Given the description of an element on the screen output the (x, y) to click on. 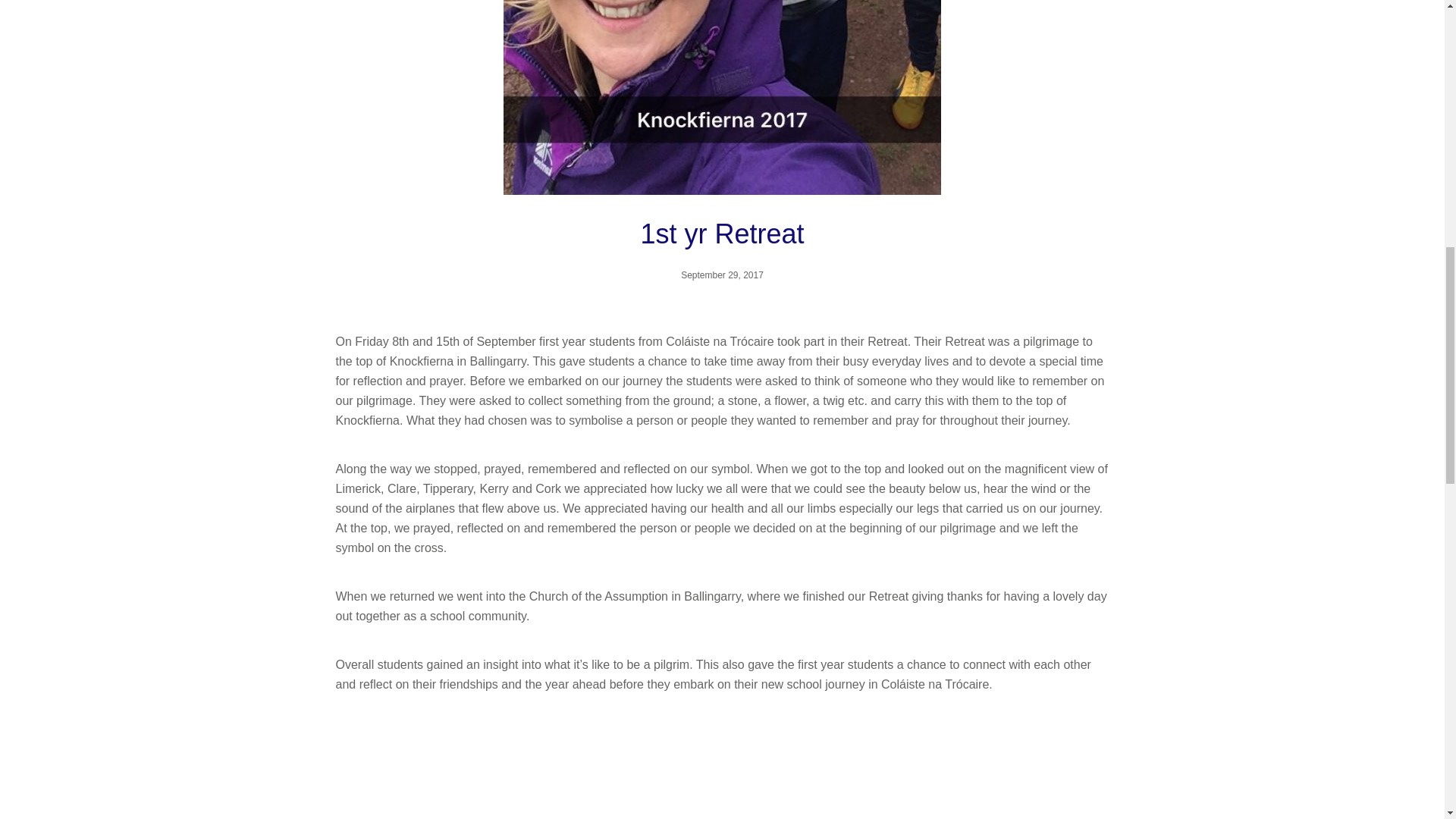
file-25 (985, 774)
file-26 (721, 774)
file-27 (458, 774)
